Given the description of an element on the screen output the (x, y) to click on. 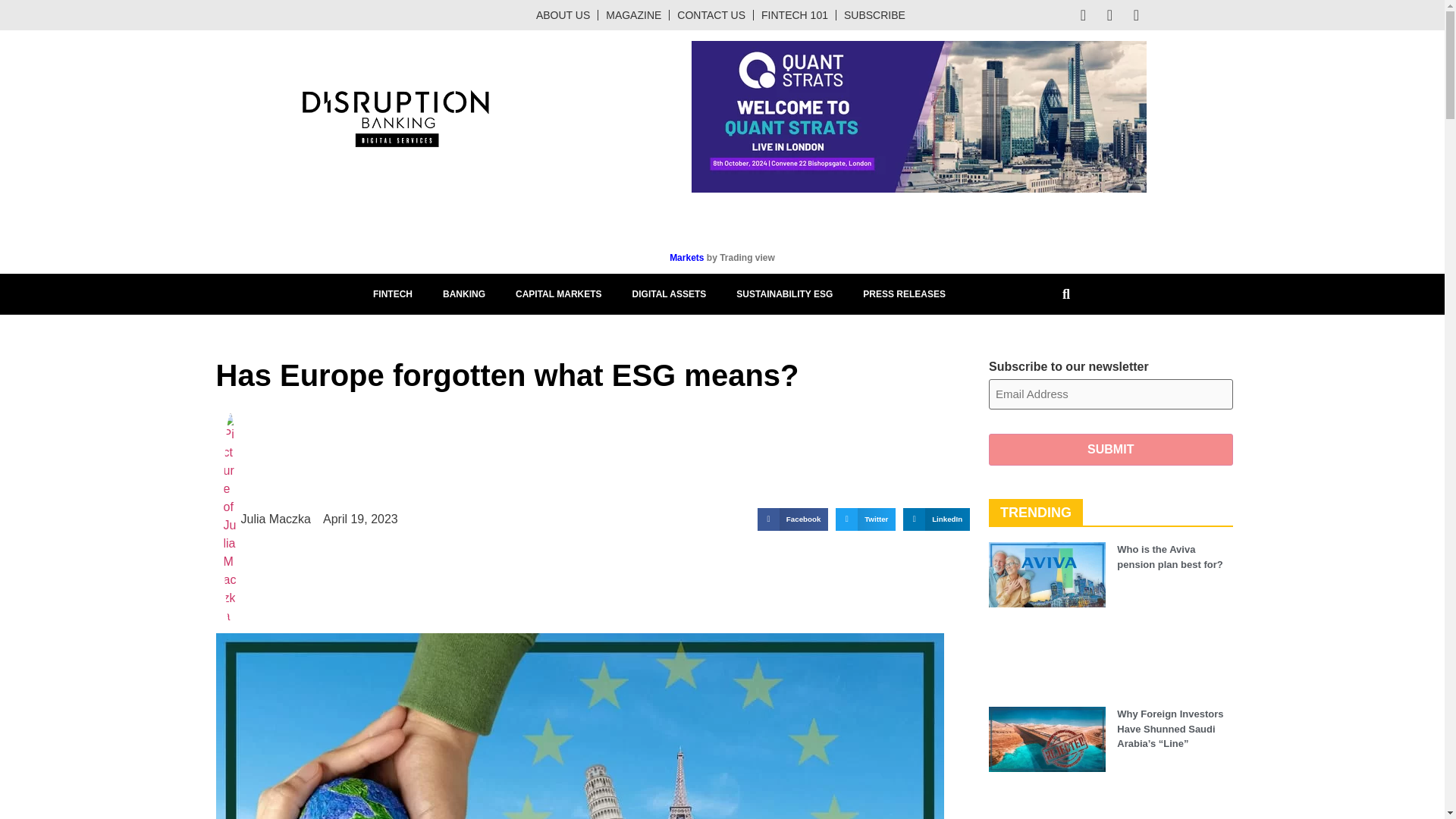
SUBSCRIBE (873, 14)
MAGAZINE (633, 14)
FINTECH (393, 293)
BANKING (464, 293)
ABOUT US (563, 14)
DIGITAL ASSETS (669, 293)
FINTECH 101 (794, 14)
Submit (1110, 450)
CONTACT US (711, 14)
SUSTAINABILITY ESG (783, 293)
